Given the description of an element on the screen output the (x, y) to click on. 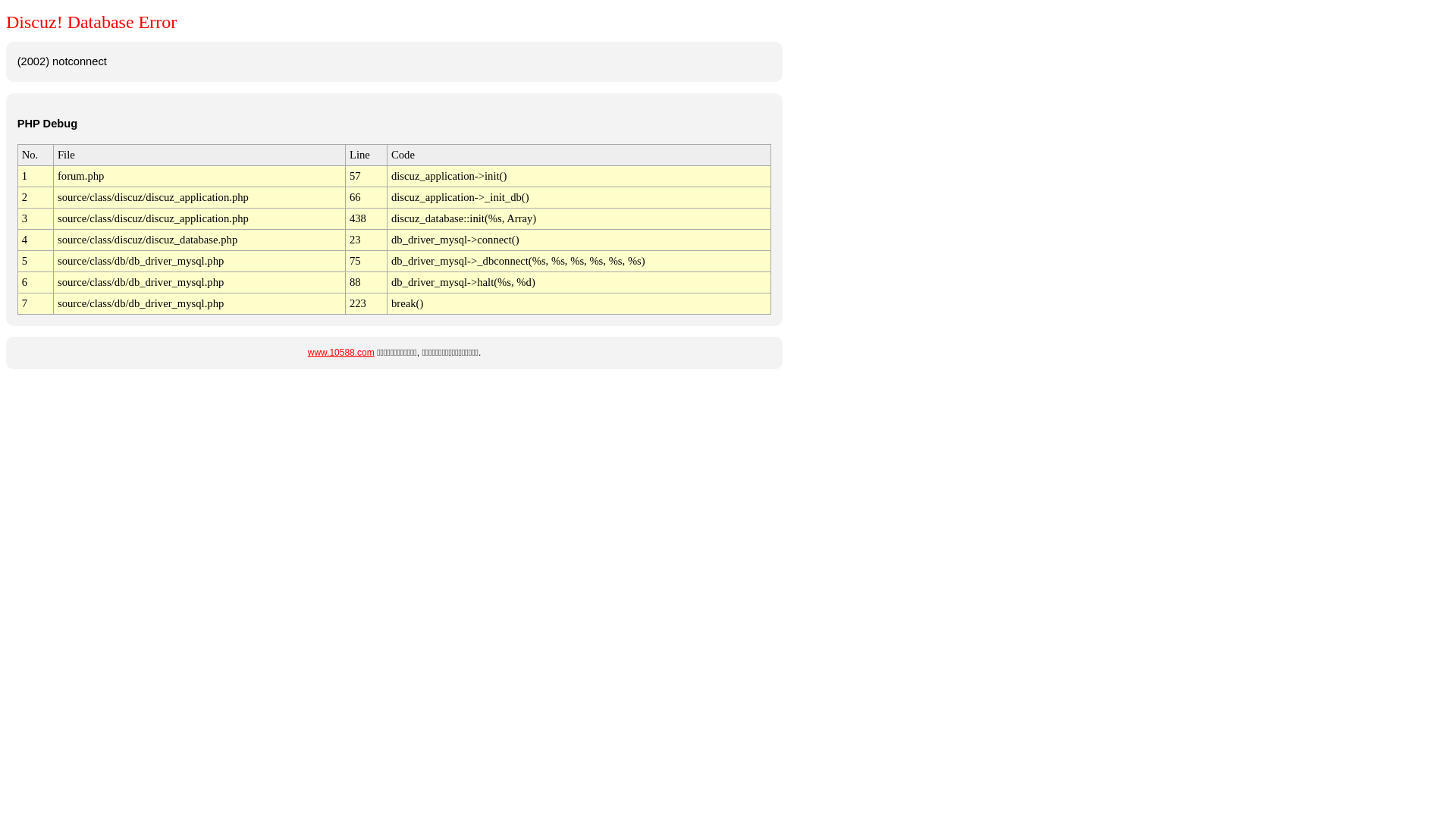
www.10588.com Element type: text (340, 352)
